Given the description of an element on the screen output the (x, y) to click on. 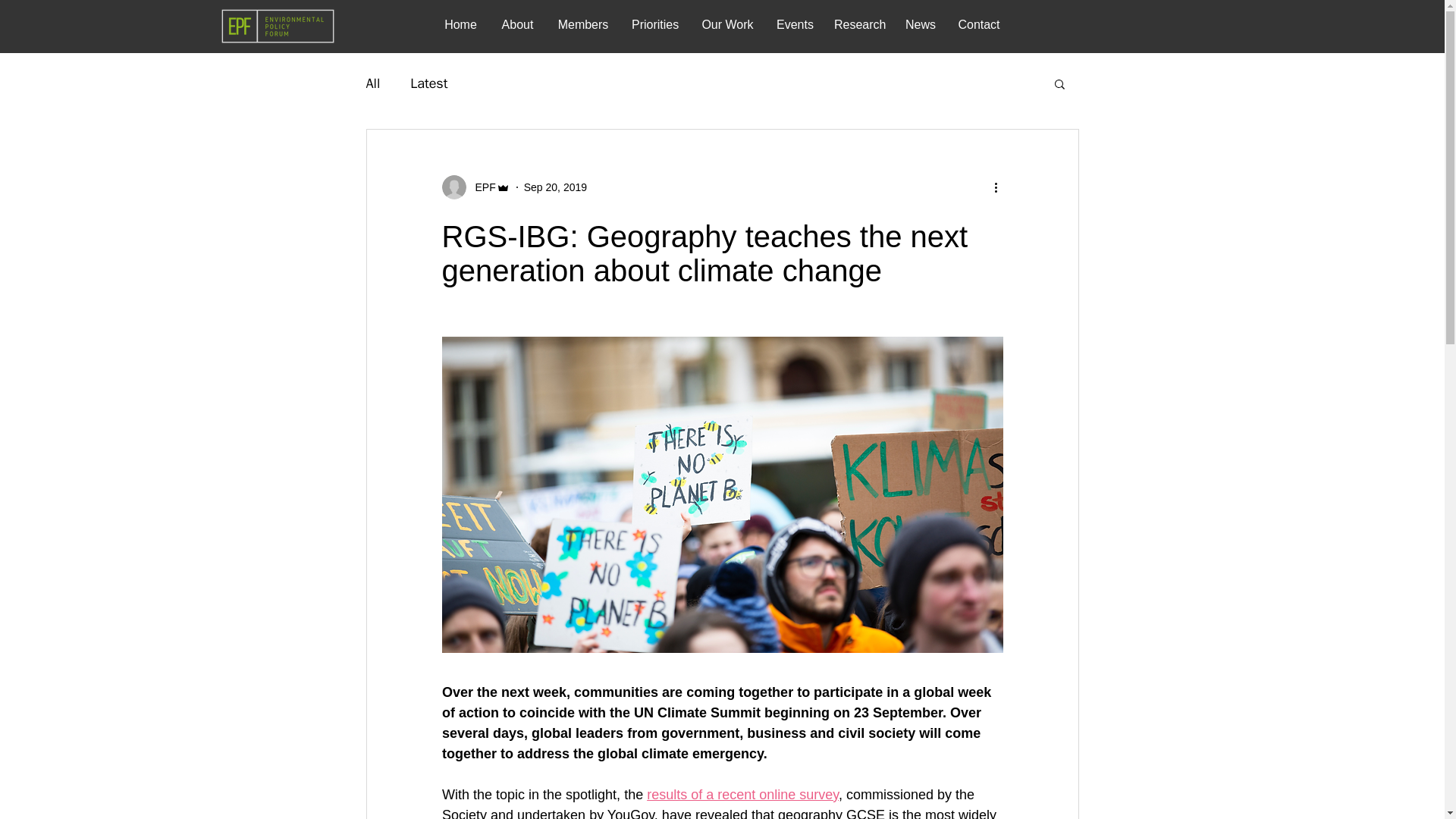
Members (583, 24)
results of a recent online survey (742, 794)
Sep 20, 2019 (555, 186)
Latest (428, 83)
Our Work (727, 24)
Priorities (655, 24)
About (517, 24)
Events (793, 24)
Research (857, 24)
Contact (978, 24)
